Given the description of an element on the screen output the (x, y) to click on. 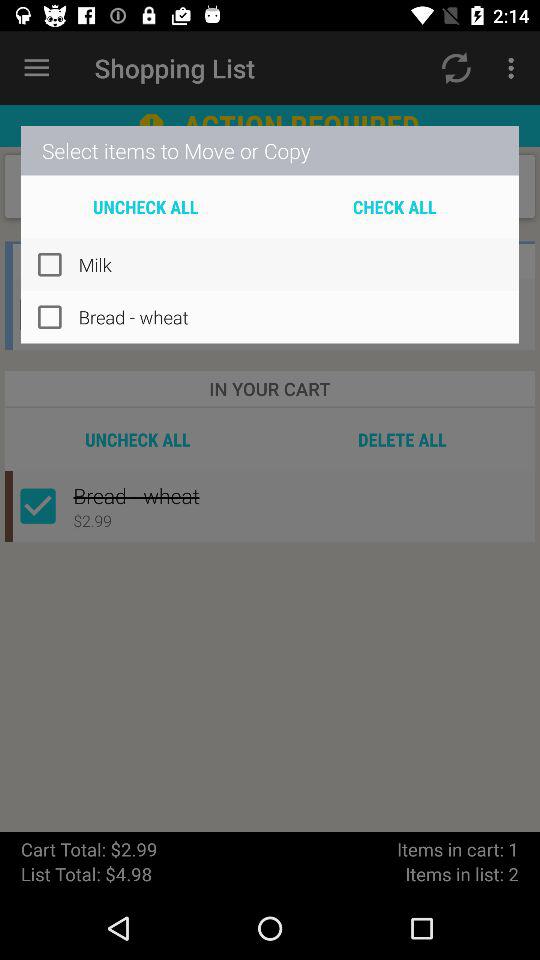
turn on icon below select items to icon (394, 206)
